Given the description of an element on the screen output the (x, y) to click on. 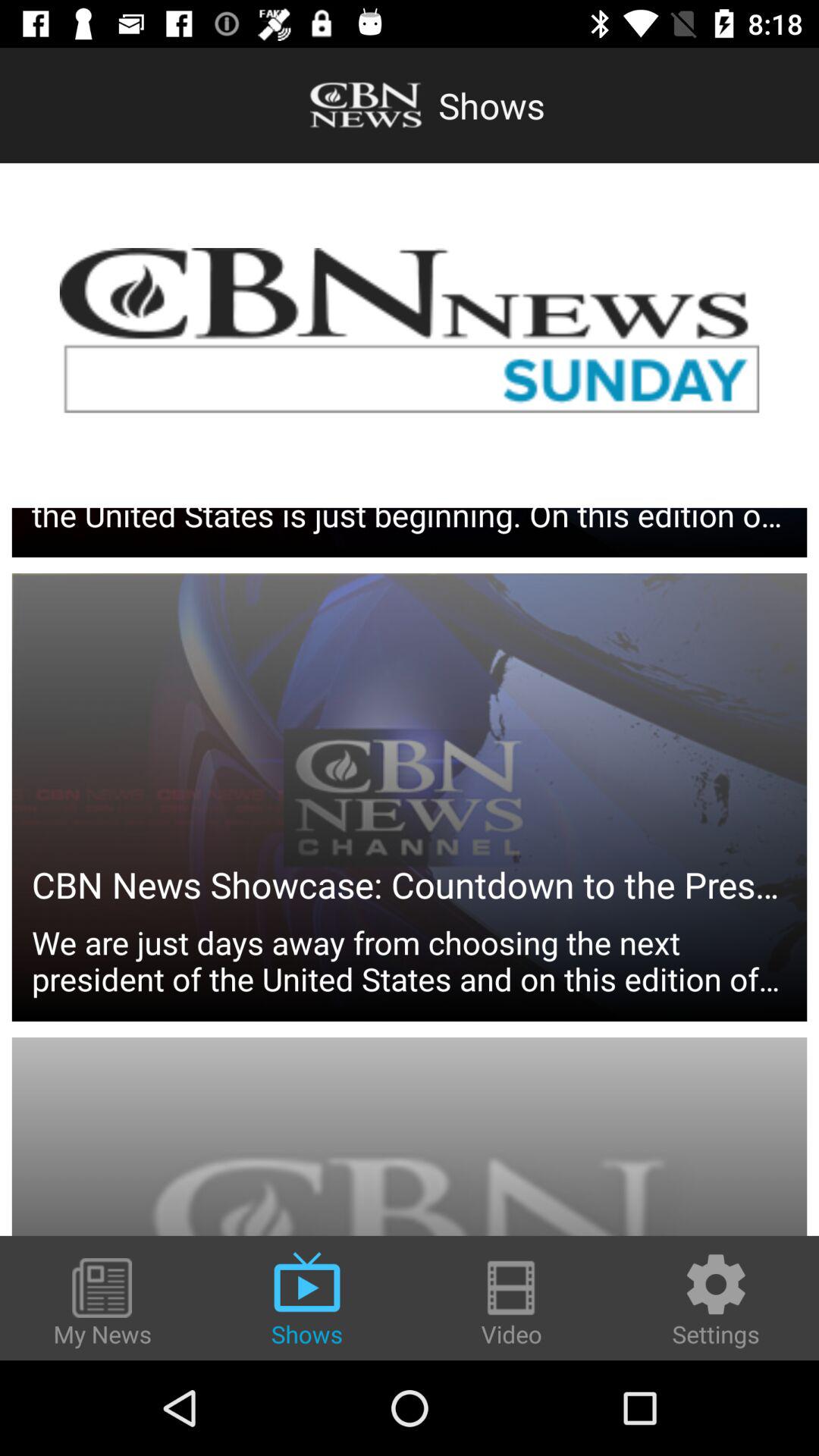
launch the icon next to the shows icon (102, 1304)
